Given the description of an element on the screen output the (x, y) to click on. 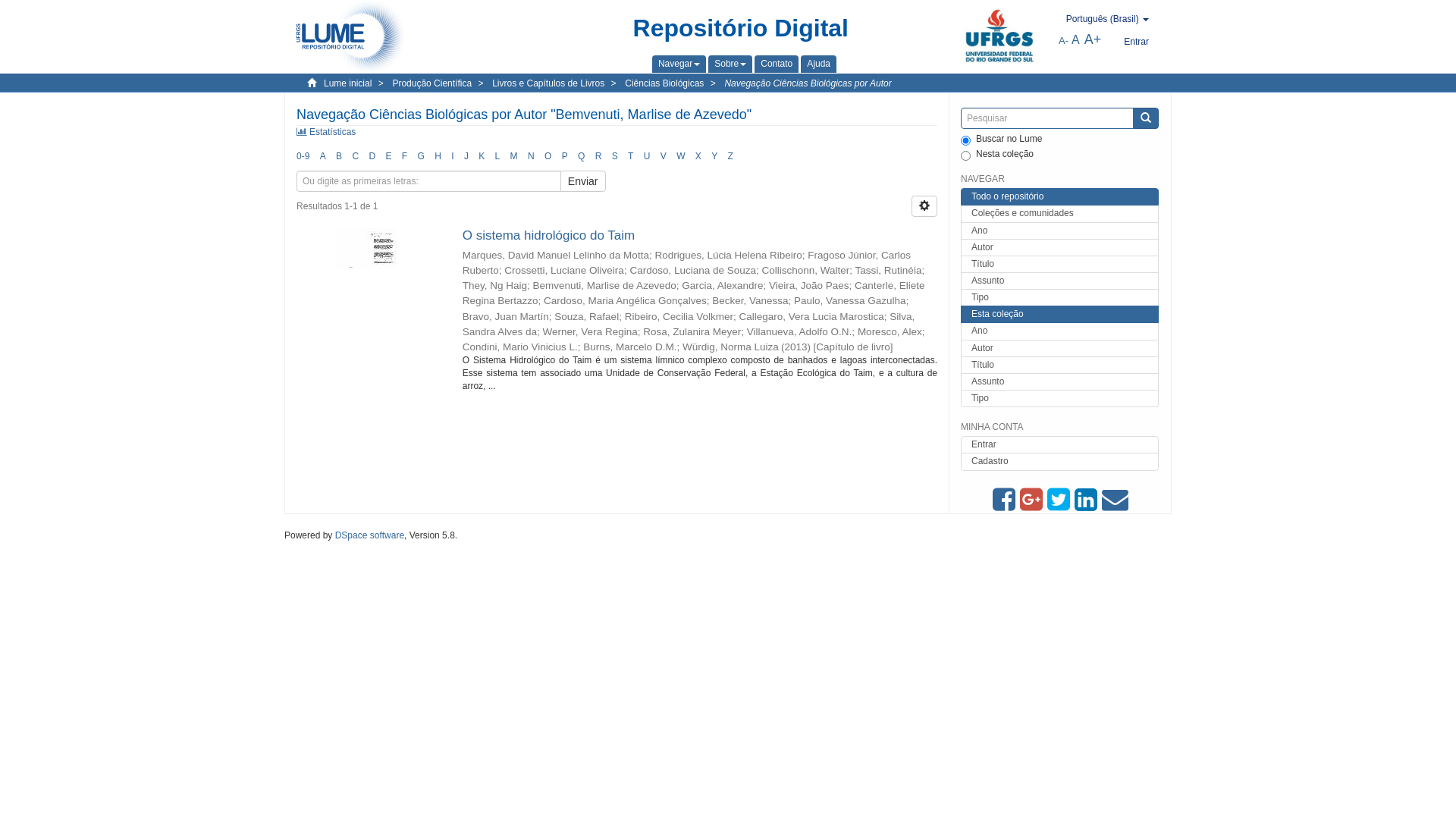
I Element type: text (452, 155)
Sobre Element type: text (730, 63)
Lume inicial Element type: text (347, 83)
Autor Element type: text (1059, 247)
Q Element type: text (580, 155)
W Element type: text (680, 155)
Entrar Element type: text (1136, 41)
Navegar Element type: text (678, 63)
Compartilhar via Linkein Element type: hover (1087, 499)
Ajuda Element type: text (818, 63)
Assunto Element type: text (1059, 280)
A- Element type: text (1063, 40)
L Element type: text (497, 155)
Autor Element type: text (1059, 348)
Entrar Element type: text (1059, 444)
D Element type: text (371, 155)
Enviar Element type: hover (1145, 117)
U Element type: text (646, 155)
N Element type: text (530, 155)
R Element type: text (598, 155)
F Element type: text (404, 155)
H Element type: text (437, 155)
Compartilhe no Facebook Element type: hover (1005, 499)
B Element type: text (338, 155)
Z Element type: text (730, 155)
DSpace software Element type: text (369, 535)
Tipo Element type: text (1059, 297)
O Element type: text (547, 155)
S Element type: text (614, 155)
A Element type: text (323, 155)
Contato Element type: text (776, 63)
Y Element type: text (714, 155)
Ano Element type: text (1059, 330)
C Element type: text (354, 155)
A+ Element type: text (1092, 39)
T Element type: text (630, 155)
Enviar Element type: text (582, 180)
Assunto Element type: text (1059, 381)
P Element type: text (564, 155)
Ano Element type: text (1059, 230)
Cadastro Element type: text (1059, 461)
E Element type: text (388, 155)
K Element type: text (481, 155)
Compartilhe no twitter Element type: hover (1060, 499)
J Element type: text (466, 155)
G Element type: text (420, 155)
Compartilhe no Google+ Element type: hover (1033, 499)
0-9 Element type: text (302, 155)
M Element type: text (513, 155)
Tipo Element type: text (1059, 398)
Compartilhar via E-mail Element type: hover (1115, 499)
A Element type: text (1075, 39)
X Element type: text (698, 155)
UFRGS Element type: hover (999, 36)
V Element type: text (663, 155)
